Given the description of an element on the screen output the (x, y) to click on. 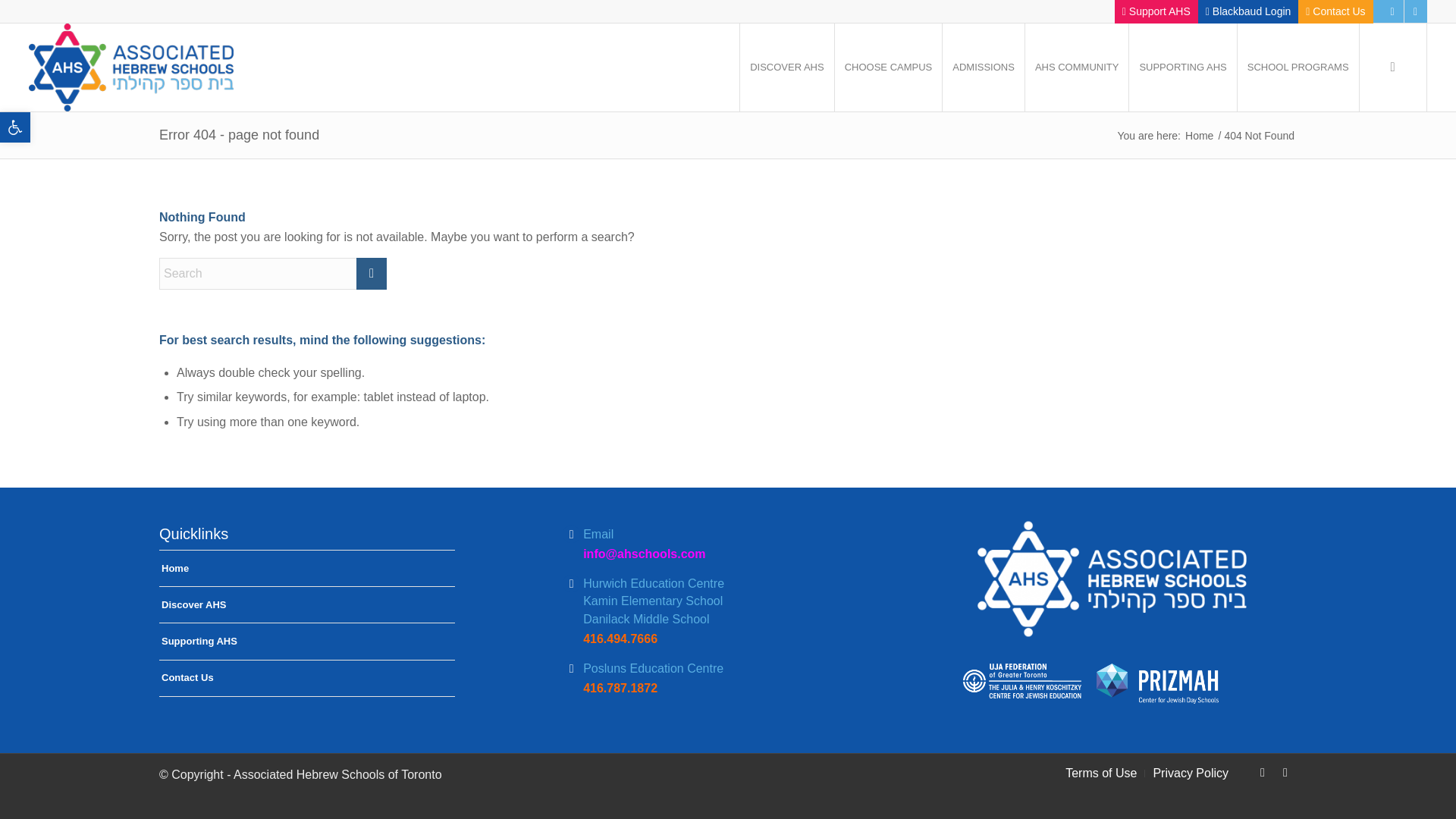
DISCOVER AHS (786, 67)
contact-us (15, 127)
Associated Hebrew Schools (1335, 11)
CHOOSE CAMPUS (1198, 135)
Facebook (888, 67)
Accessibility Tools (1262, 772)
Accessibility Tools (15, 127)
ADMISSIONS (15, 127)
Facebook (983, 67)
